Given the description of an element on the screen output the (x, y) to click on. 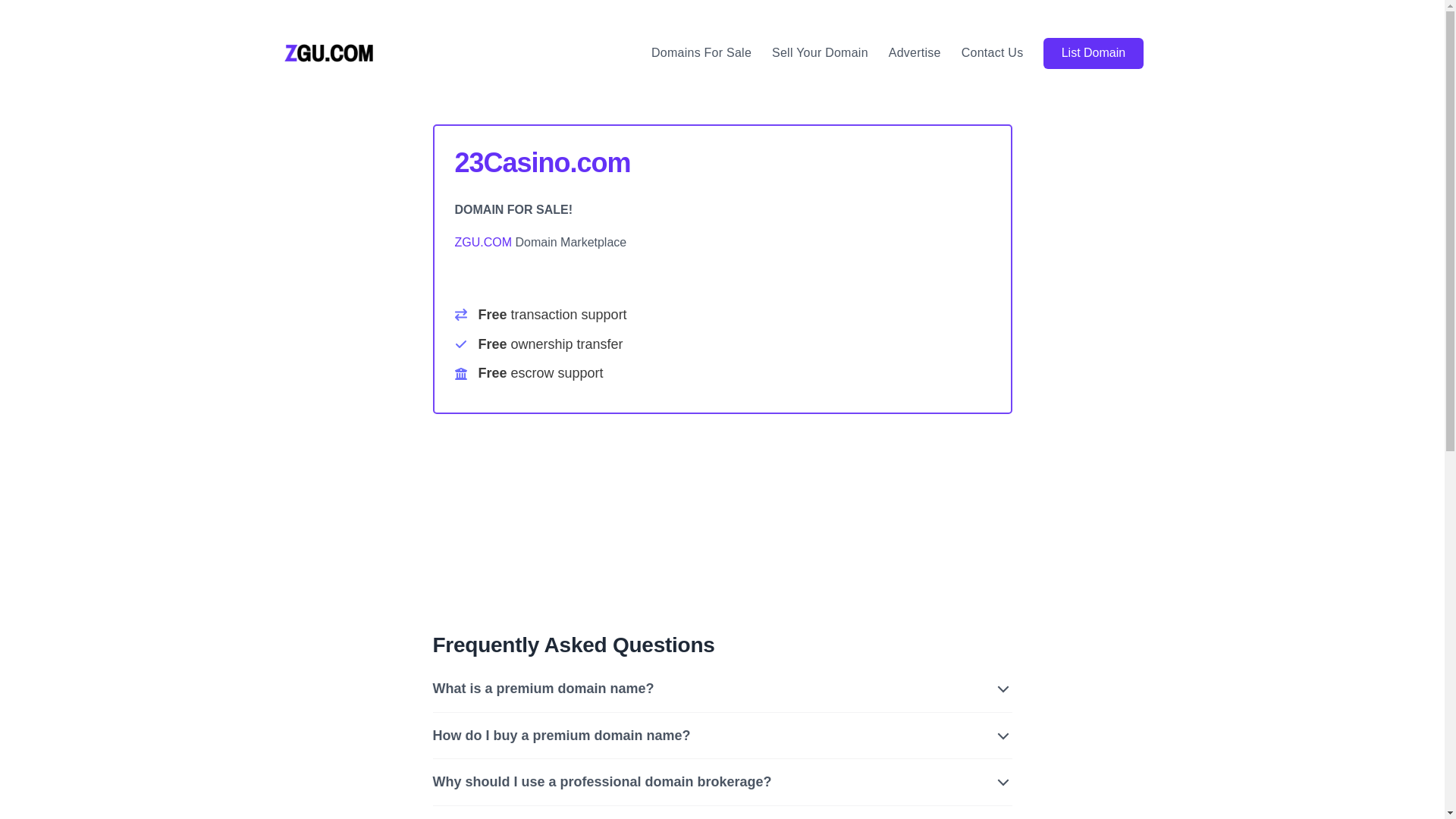
List Domain Element type: text (1092, 53)
Contact Us Element type: text (992, 52)
Domains For Sale Element type: text (701, 52)
Sell Your Domain Element type: text (819, 52)
Advertise Element type: text (914, 52)
ZGU.COM Element type: text (483, 241)
